Given the description of an element on the screen output the (x, y) to click on. 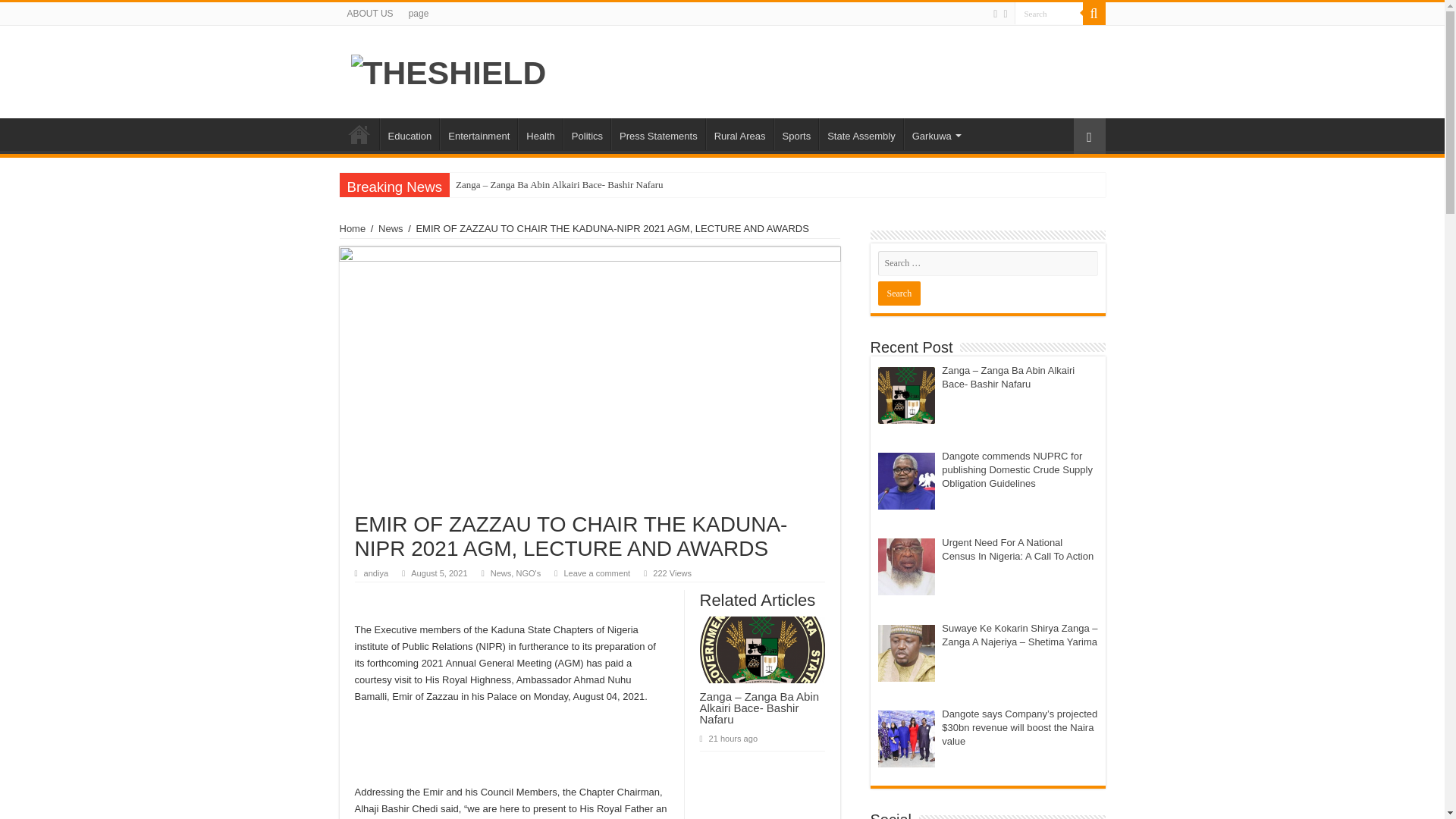
Search (1048, 13)
Search (1094, 13)
THESHIELD (448, 70)
Health (540, 133)
Sports (796, 133)
Entertainment (477, 133)
Garkuwa (935, 133)
State Assembly (860, 133)
Search (1048, 13)
Search (1048, 13)
Education (408, 133)
Home (358, 133)
Rural Areas (739, 133)
Search (899, 293)
Politics (586, 133)
